Given the description of an element on the screen output the (x, y) to click on. 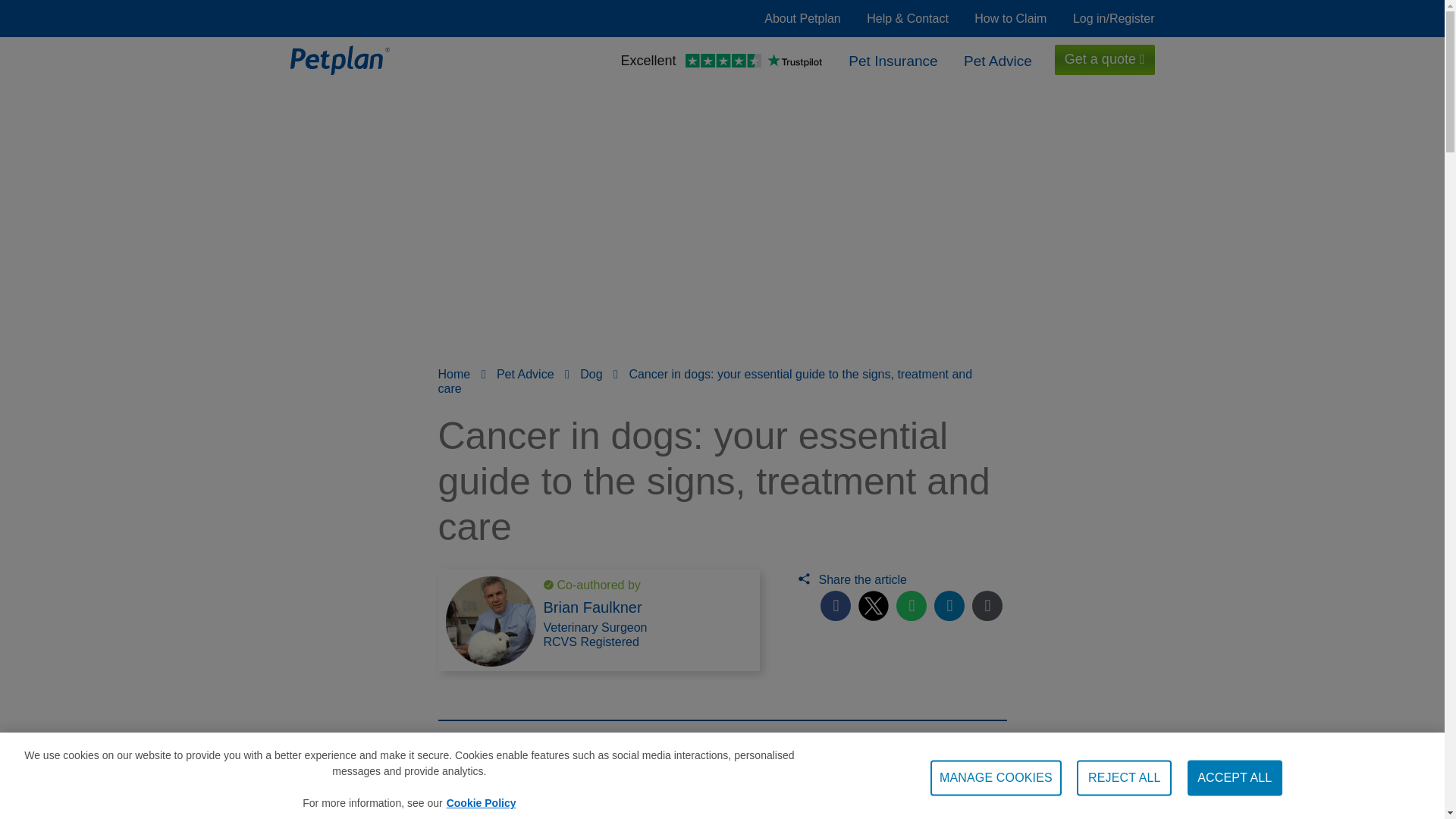
Brian Faulkner (592, 606)
Click to visit About Petplan page (801, 18)
How to Claim (1010, 18)
Pet Advice (526, 373)
Home (459, 373)
Click to visit How to Claim page (1010, 18)
Dog (592, 373)
Share via Email (987, 605)
Click to visit Pet Advice page (997, 59)
Get a quote (1104, 60)
Pet Advice (997, 59)
Customer reviews powered by Trustpilot (720, 62)
Petplan Logo, click to go to home page (338, 58)
Pet Insurance (892, 59)
